Given the description of an element on the screen output the (x, y) to click on. 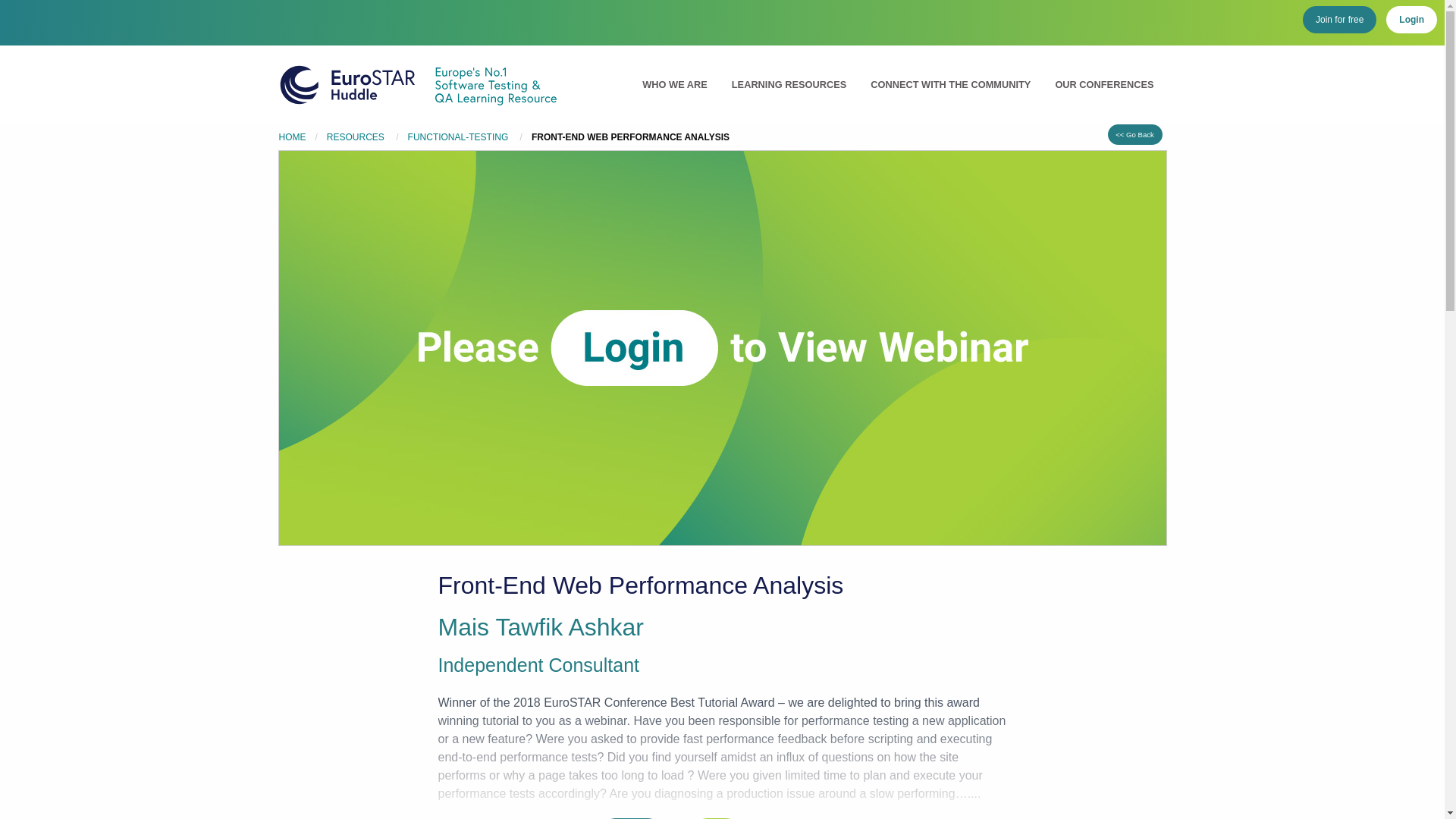
login (716, 818)
Join for free (1339, 19)
OUR CONFERENCES (1104, 84)
Resources (459, 136)
register (631, 818)
CONNECT WITH THE COMMUNITY (950, 84)
Login (1411, 19)
Resources (356, 136)
WHO WE ARE (674, 84)
LEARNING RESOURCES (789, 84)
